Given the description of an element on the screen output the (x, y) to click on. 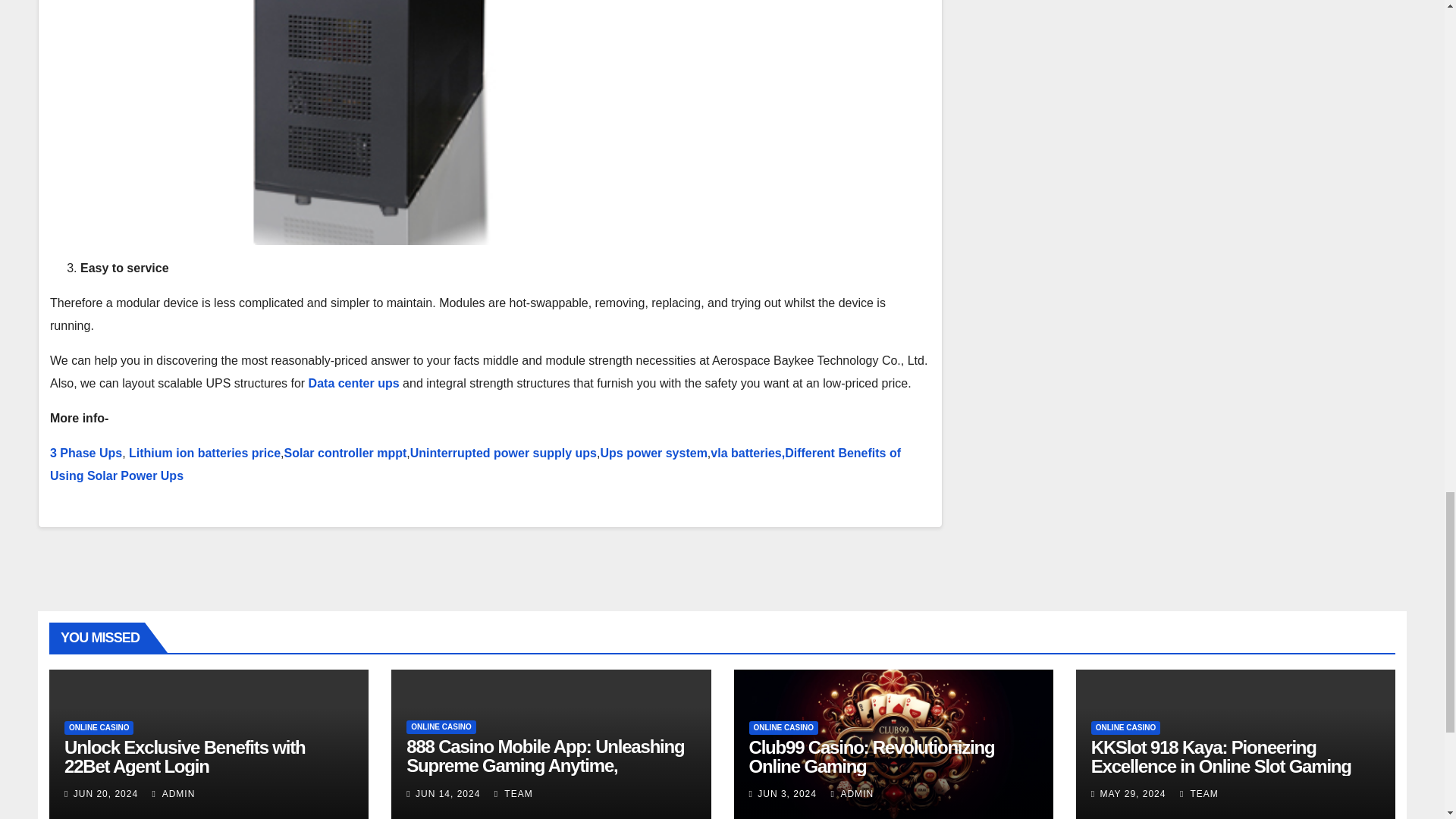
ADMIN (173, 793)
Permalink to: Club99 Casino: Revolutionizing Online Gaming (871, 756)
,Different Benefits of Using Solar Power Ups (475, 464)
Uninterrupted power supply ups (503, 452)
Data center ups (355, 382)
vla batteries (745, 452)
ONLINE CASINO (98, 727)
JUN 20, 2024 (106, 793)
ONLINE CASINO (441, 726)
Unlock Exclusive Benefits with 22Bet Agent Login (184, 756)
Lithium ion batteries price (205, 452)
3 Phase Ups (85, 452)
